Given the description of an element on the screen output the (x, y) to click on. 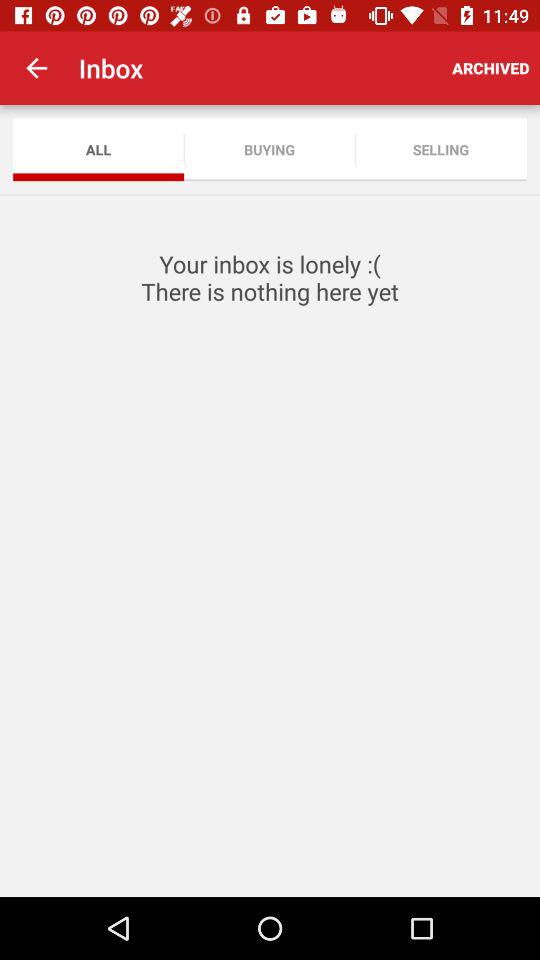
swipe to all (98, 149)
